Given the description of an element on the screen output the (x, y) to click on. 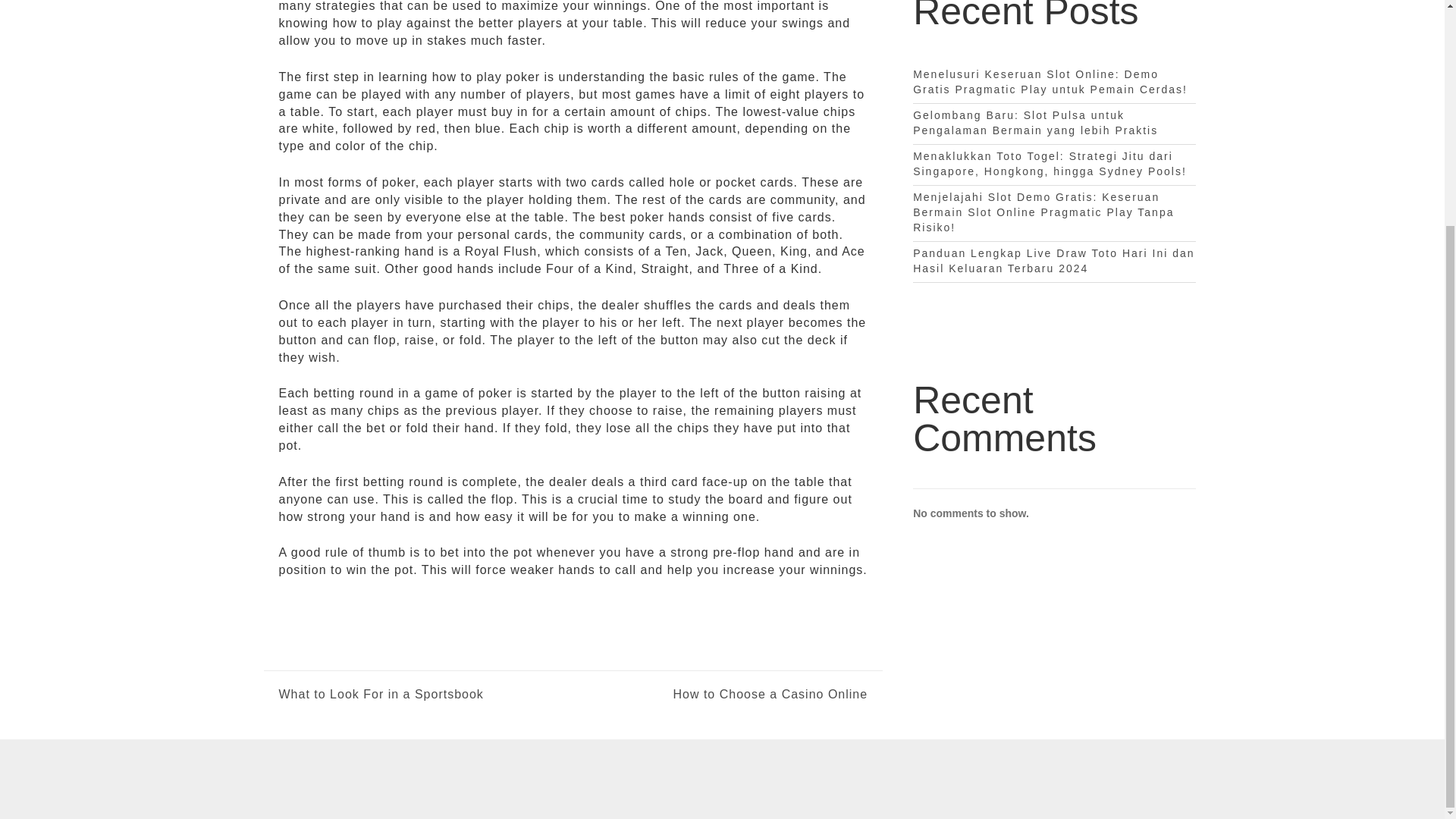
What to Look For in a Sportsbook (381, 694)
How to Choose a Casino Online (720, 694)
